Given the description of an element on the screen output the (x, y) to click on. 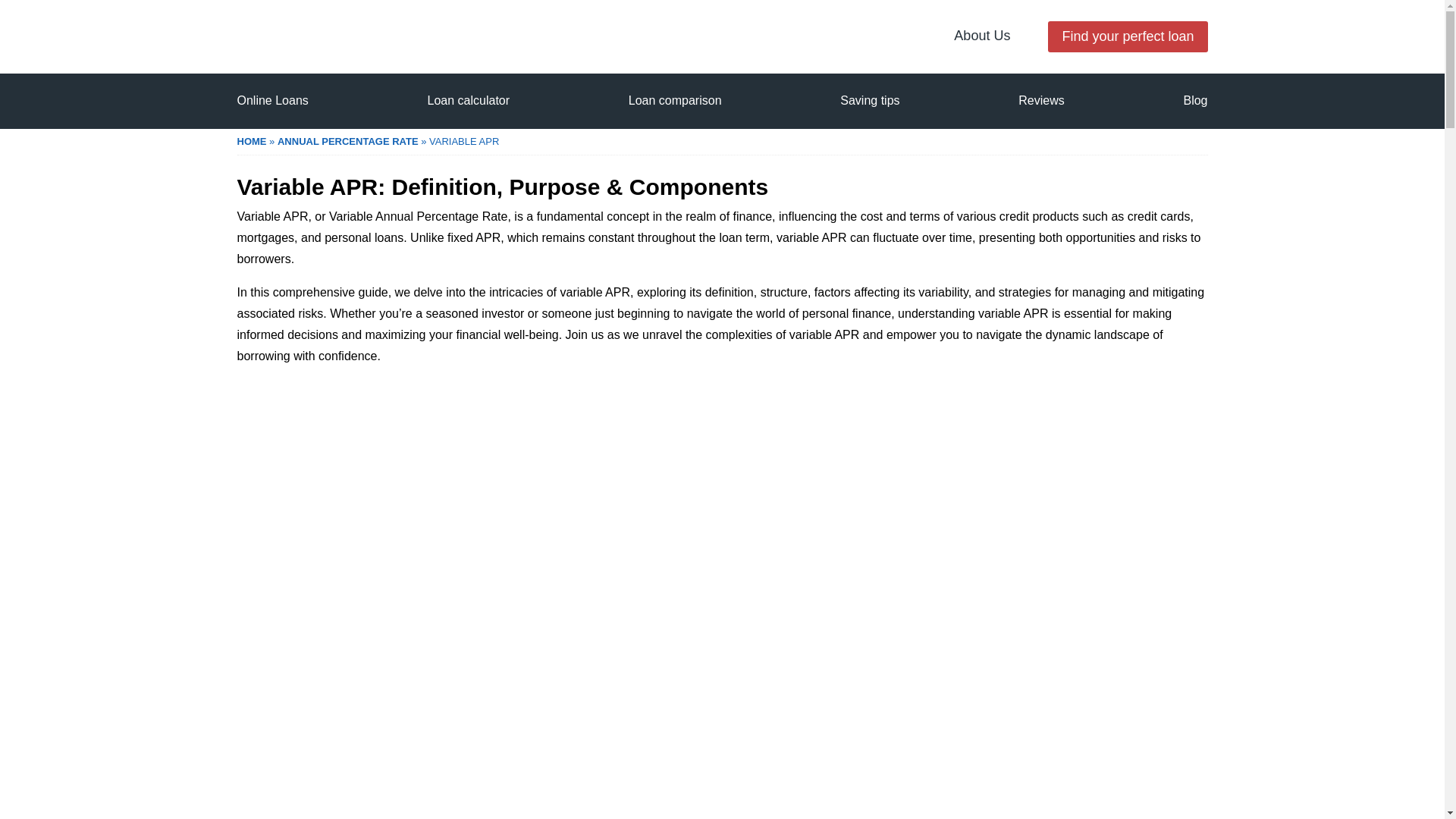
HOME (250, 141)
ANNUAL PERCENTAGE RATE (348, 141)
Saving tips (869, 100)
Loan comparison (675, 100)
About Us (981, 35)
Reviews (1040, 100)
Online Loans (271, 100)
Loan calculator (469, 100)
Blog (1194, 100)
Find your perfect loan (1127, 36)
